Given the description of an element on the screen output the (x, y) to click on. 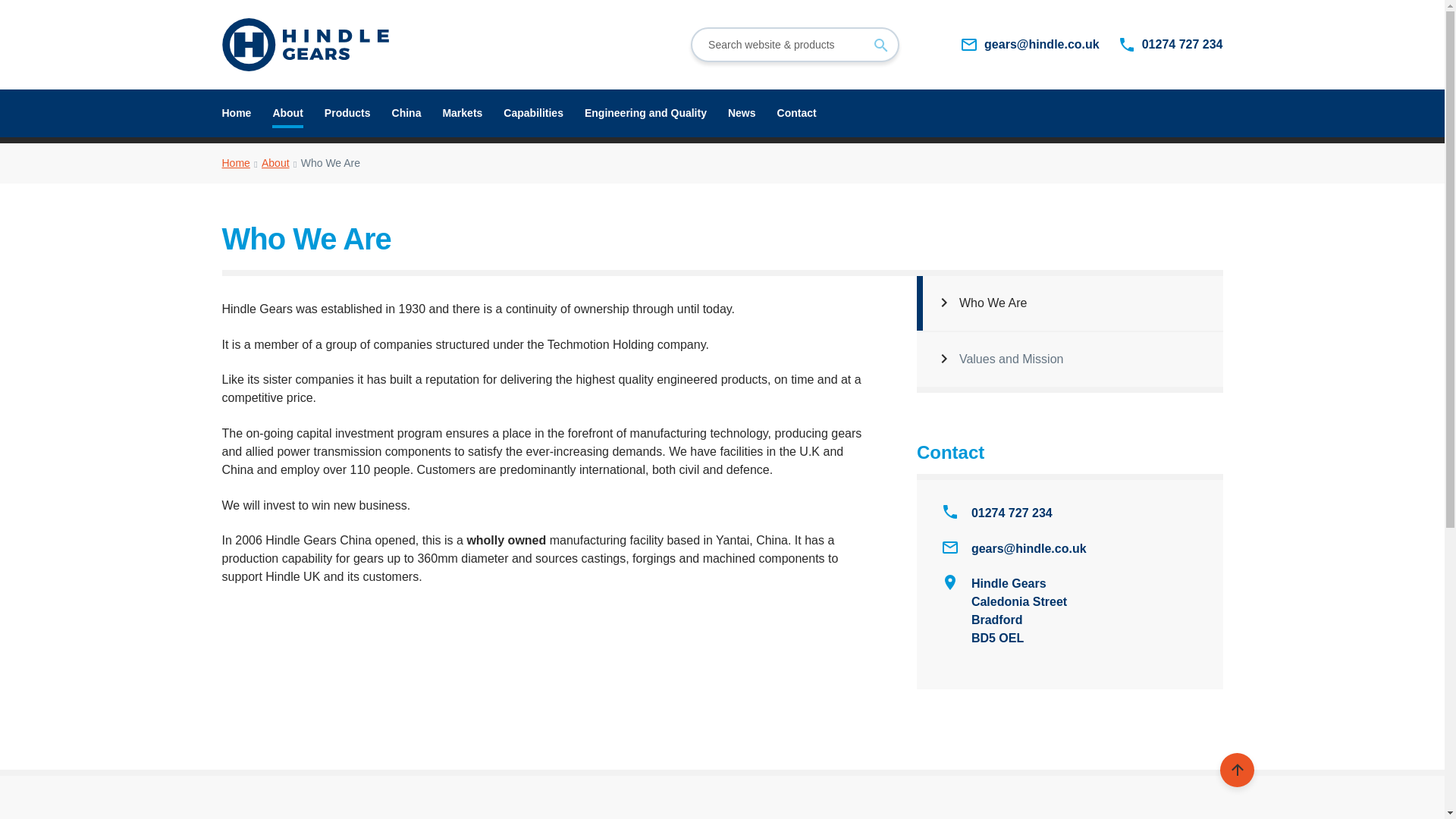
About (275, 162)
Capabilities (533, 113)
Home (234, 162)
Engineering and Quality (645, 113)
Values and Mission (1070, 359)
Who We Are (1070, 303)
01274 727 234 (1170, 45)
Products (347, 113)
